Given the description of an element on the screen output the (x, y) to click on. 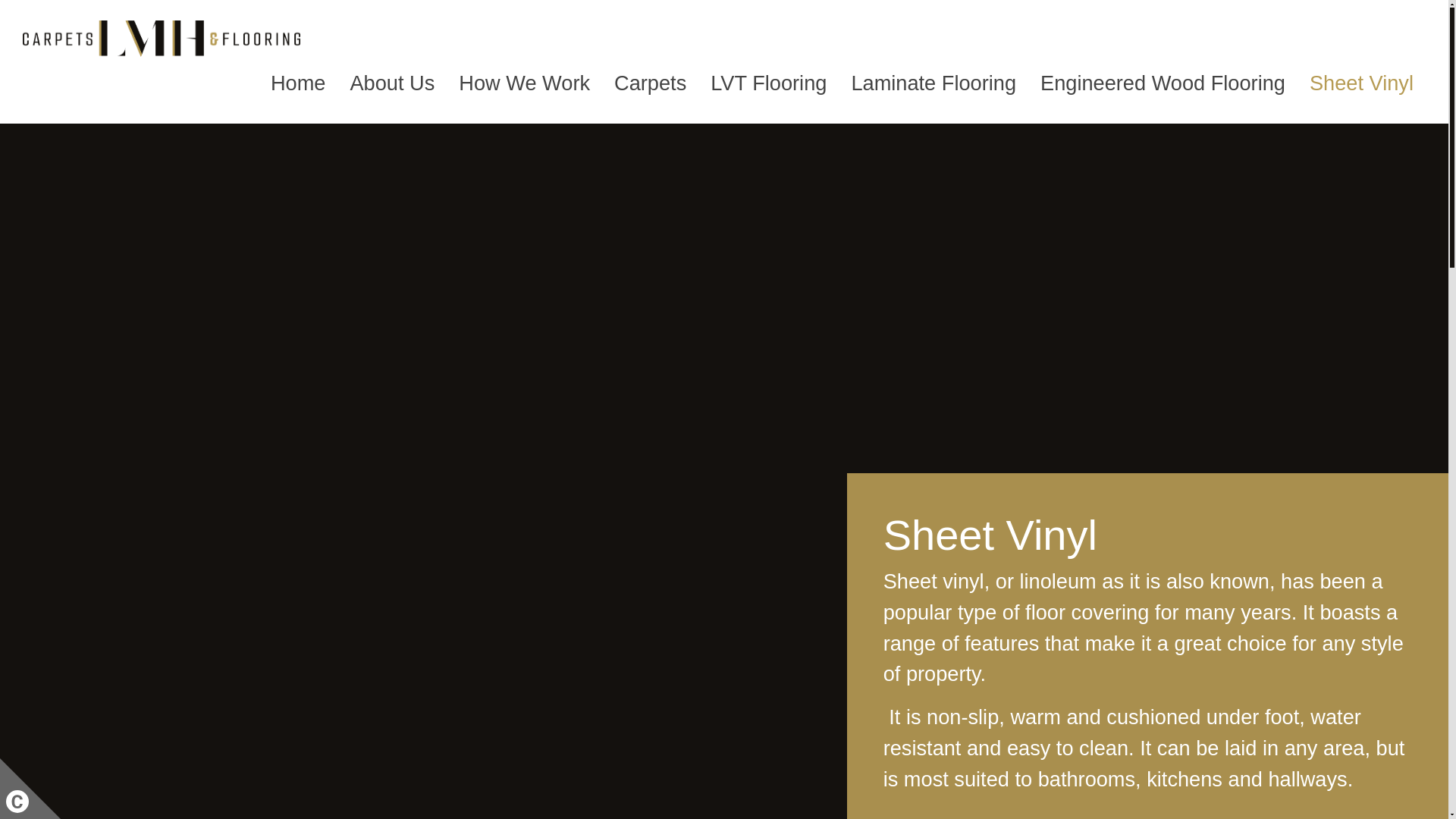
About Us (391, 83)
Home (298, 83)
Link to Home (298, 83)
Link to Laminate Flooring (932, 83)
LVT Flooring (768, 83)
Link to About Us (391, 83)
Link to LVT Flooring (768, 83)
Link to Carpets (650, 83)
Carpets (650, 83)
How We Work (524, 83)
